Given the description of an element on the screen output the (x, y) to click on. 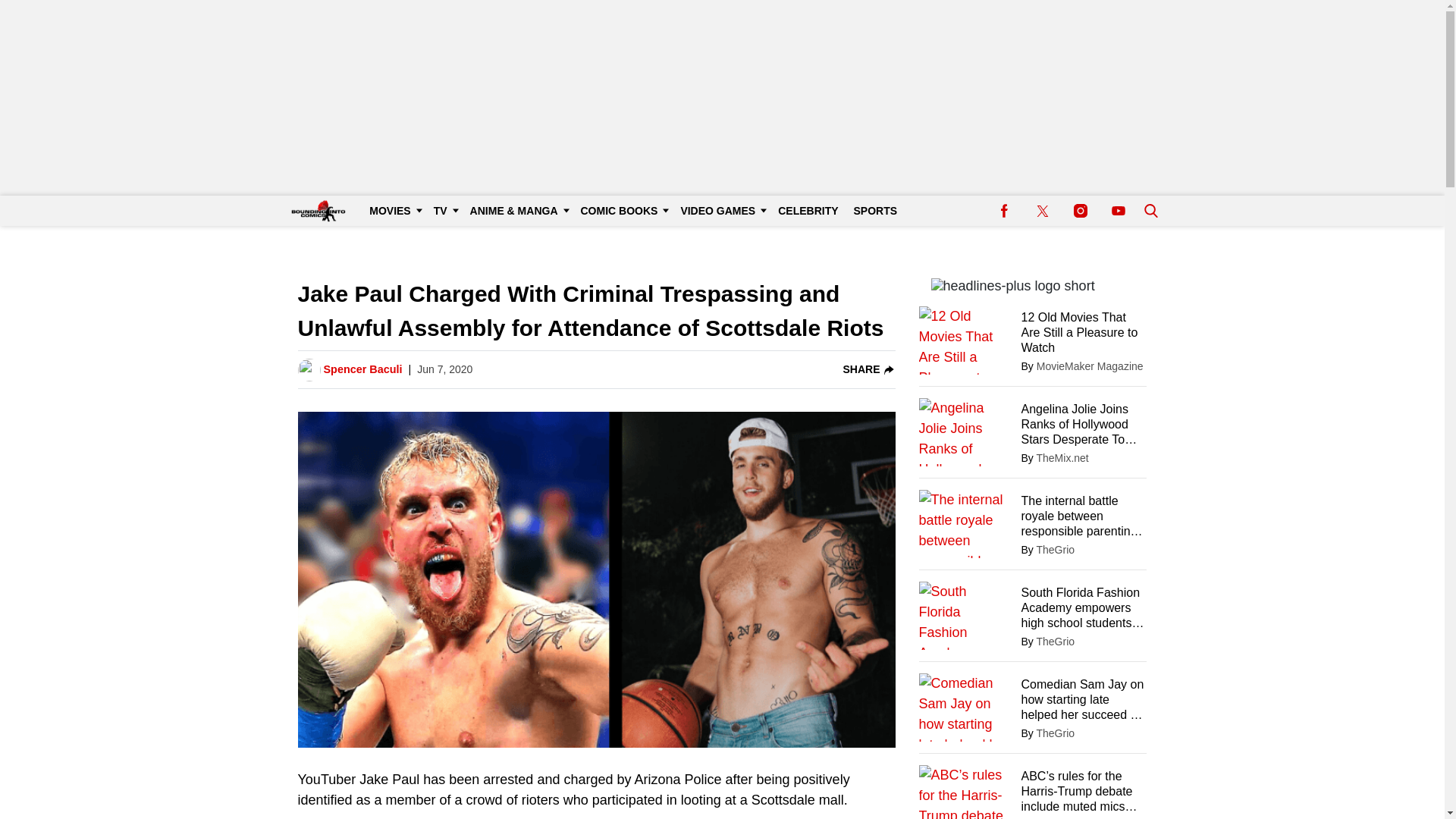
Subscribe to our YouTube channel (1118, 210)
VIDEO GAMES (721, 210)
COMIC BOOKS (622, 210)
CELEBRITY (807, 210)
SPORTS (875, 210)
Spencer Baculi (362, 369)
MOVIES (393, 210)
Follow us on Twitter (1042, 210)
Follow us on Instagram (1080, 210)
Follow us on Facebook (1004, 210)
